Given the description of an element on the screen output the (x, y) to click on. 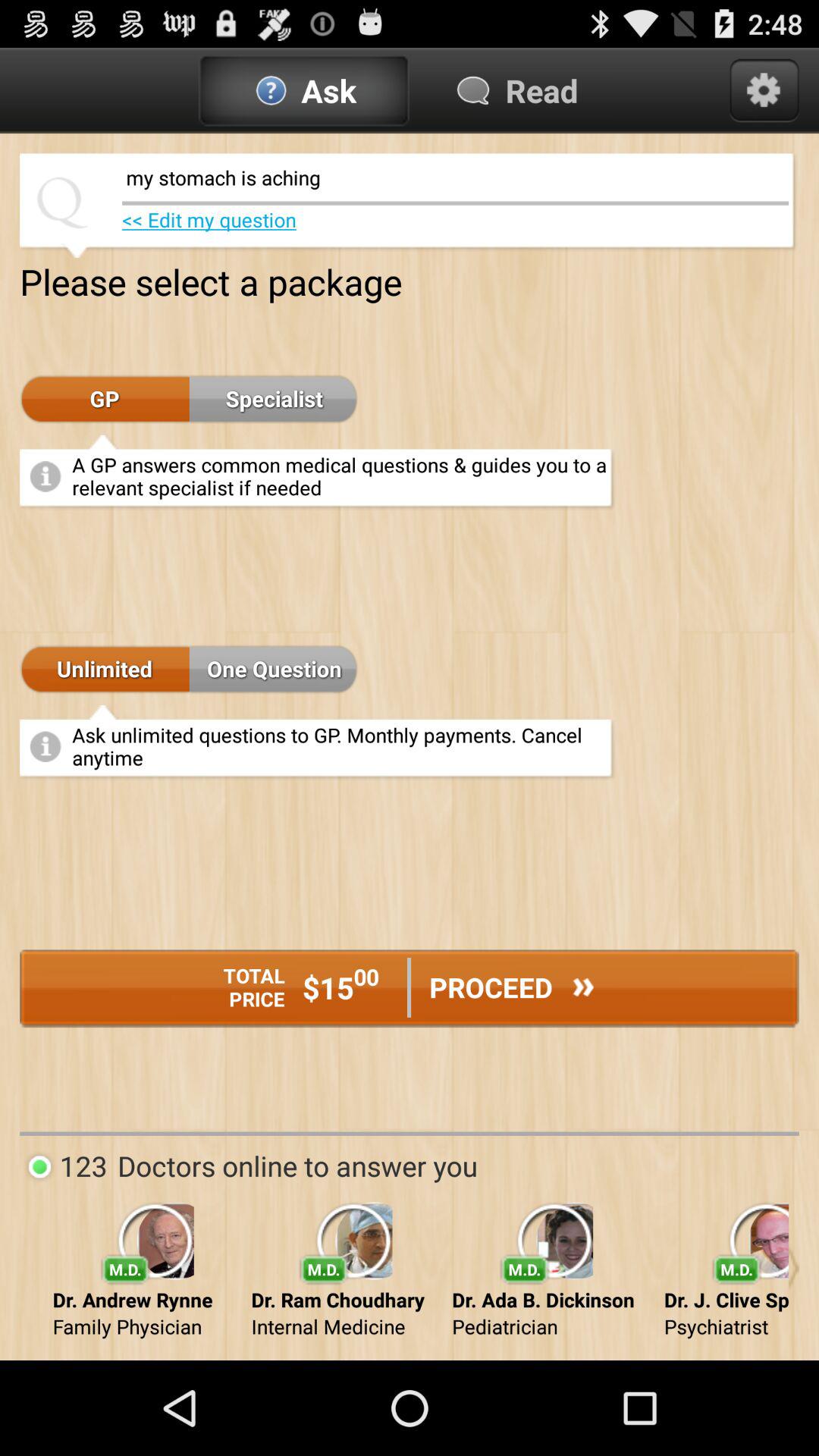
settings (764, 90)
